Given the description of an element on the screen output the (x, y) to click on. 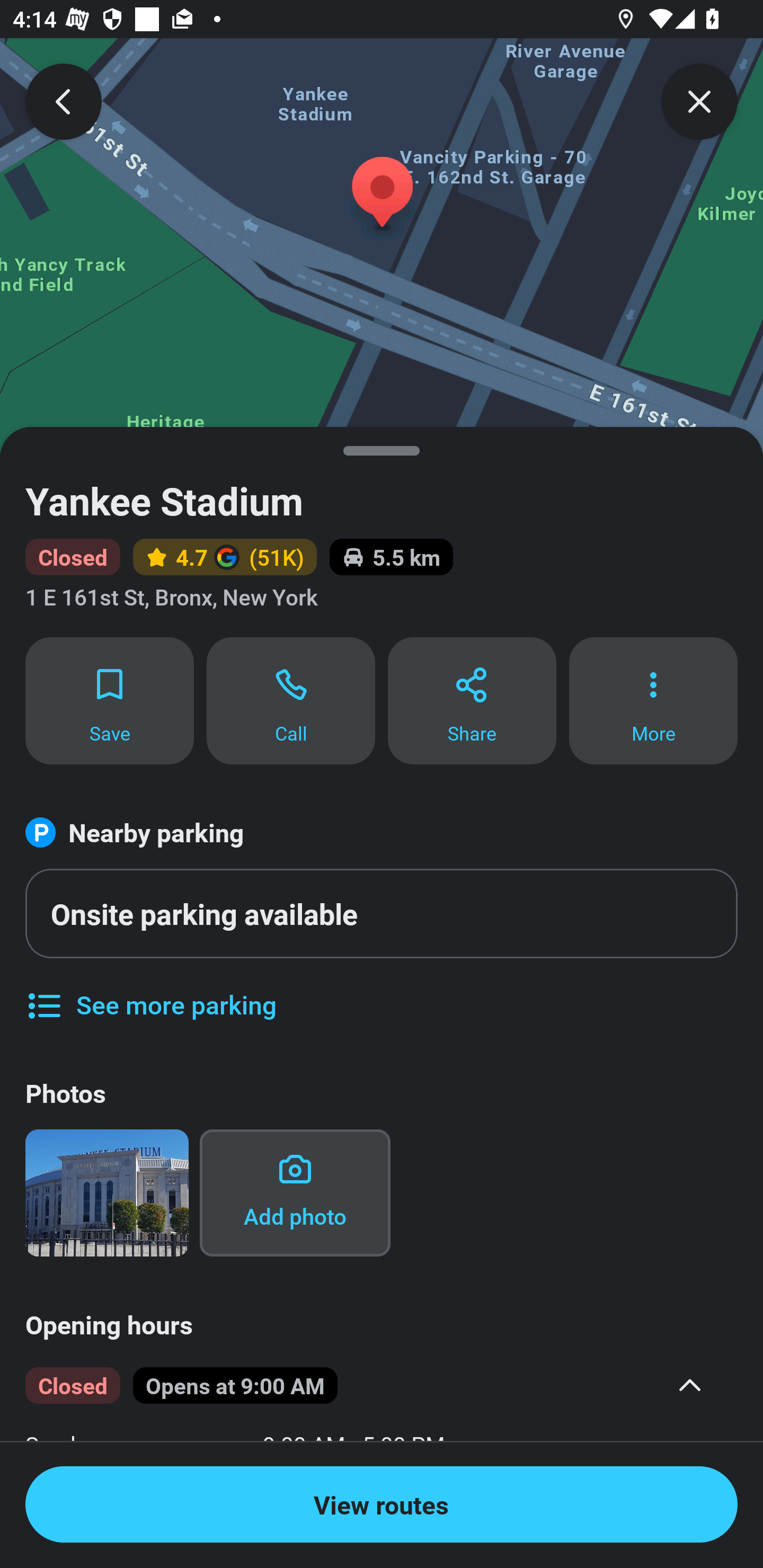
Save (109, 700)
Call (290, 700)
Share (471, 700)
More (653, 700)
See more parking (150, 991)
Add photo (294, 1191)
Closed Opens at 9:00 AM (368, 1384)
View routes (381, 1504)
